Given the description of an element on the screen output the (x, y) to click on. 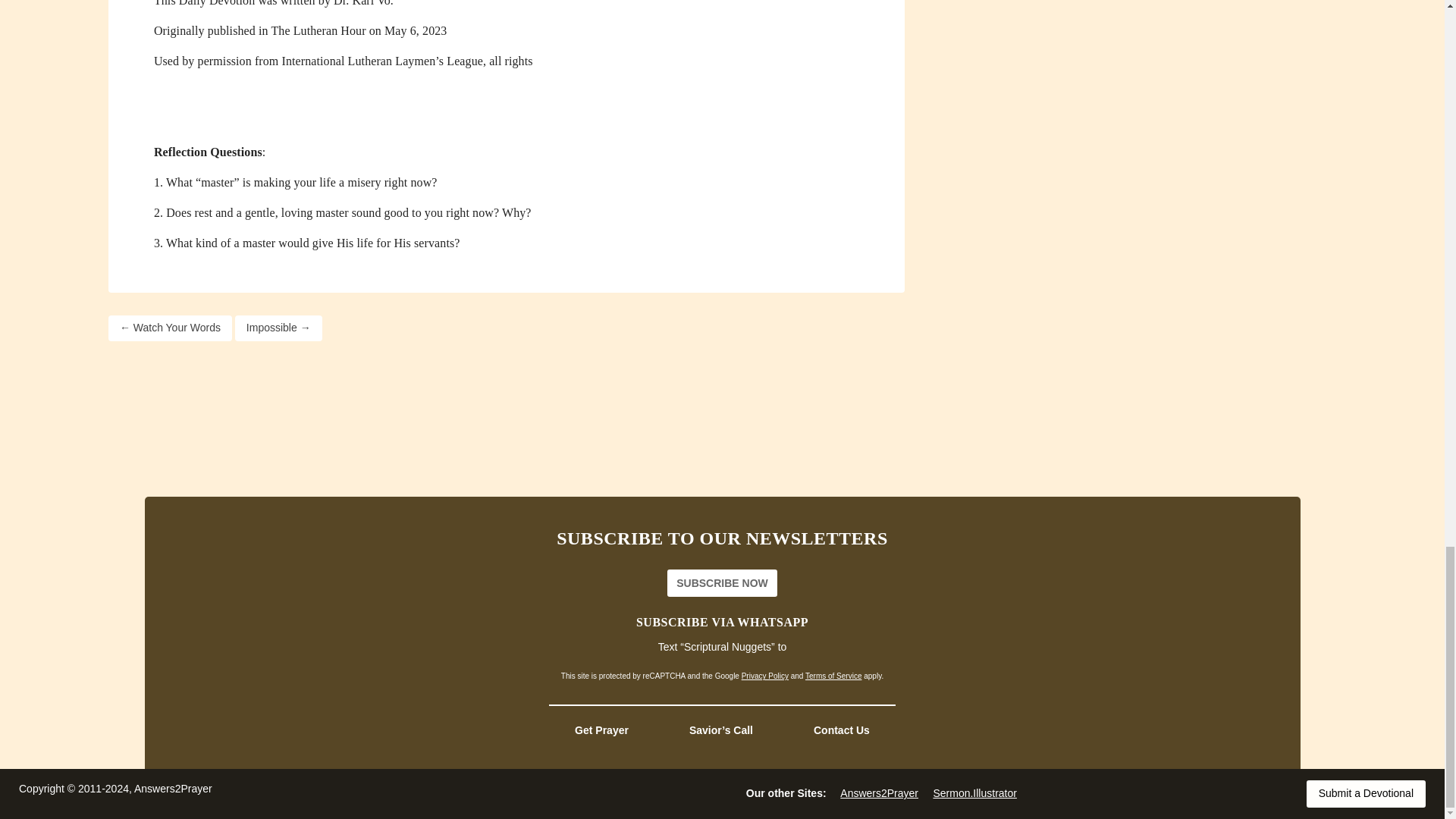
Subscribe now (721, 583)
Subscribe now (721, 583)
Privacy Policy (765, 675)
Contact Us (841, 729)
Terms of Service (833, 675)
Get Prayer (601, 729)
